Given the description of an element on the screen output the (x, y) to click on. 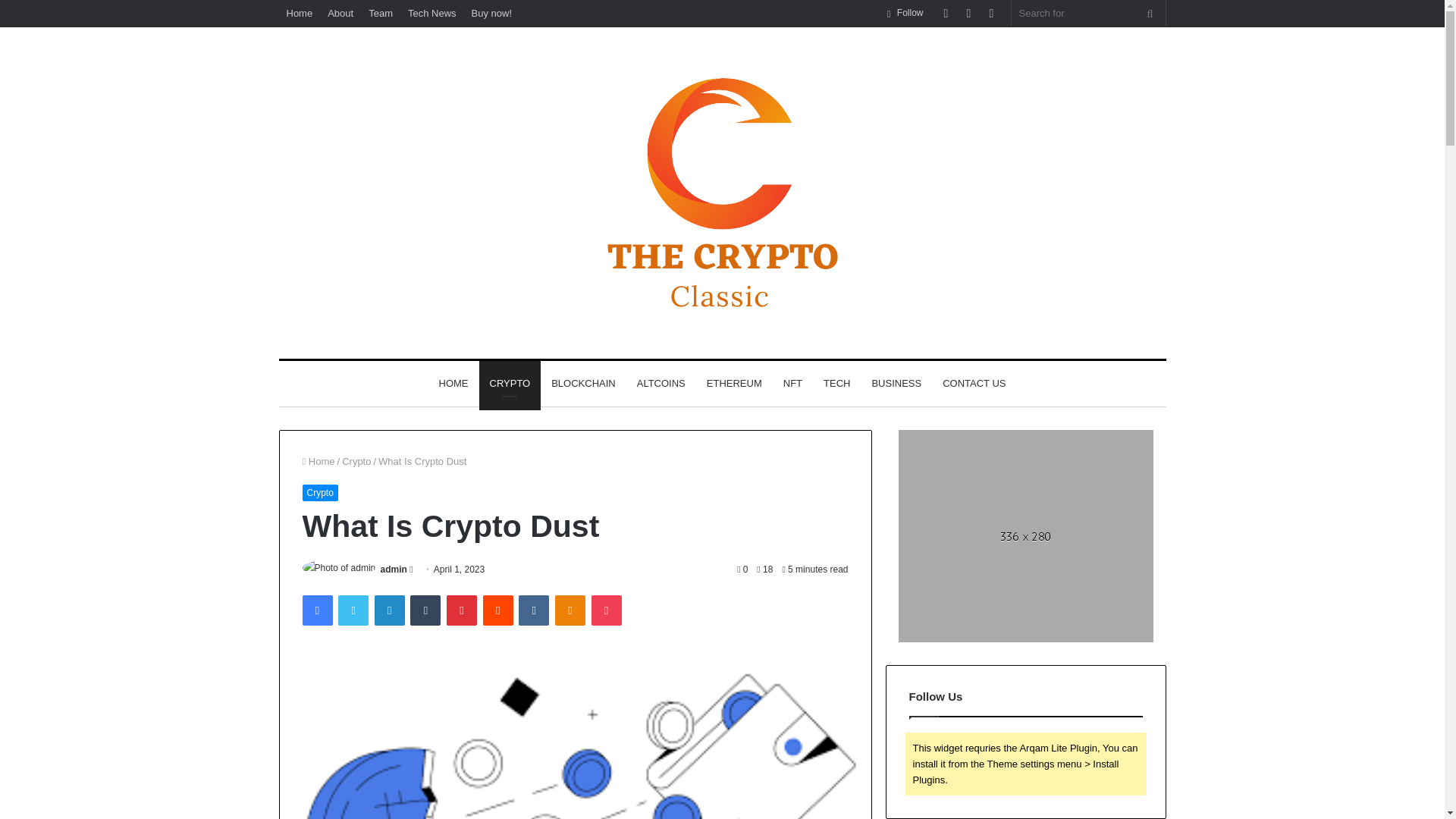
Tech News (432, 13)
The Crypto Classic (722, 192)
Crypto (356, 460)
ETHEREUM (734, 383)
admin (393, 569)
VKontakte (533, 610)
TECH (836, 383)
Tumblr (425, 610)
Facebook (316, 610)
Odnoklassniki (569, 610)
admin (393, 569)
Search for (1088, 13)
Crypto (319, 492)
BUSINESS (895, 383)
Reddit (498, 610)
